Given the description of an element on the screen output the (x, y) to click on. 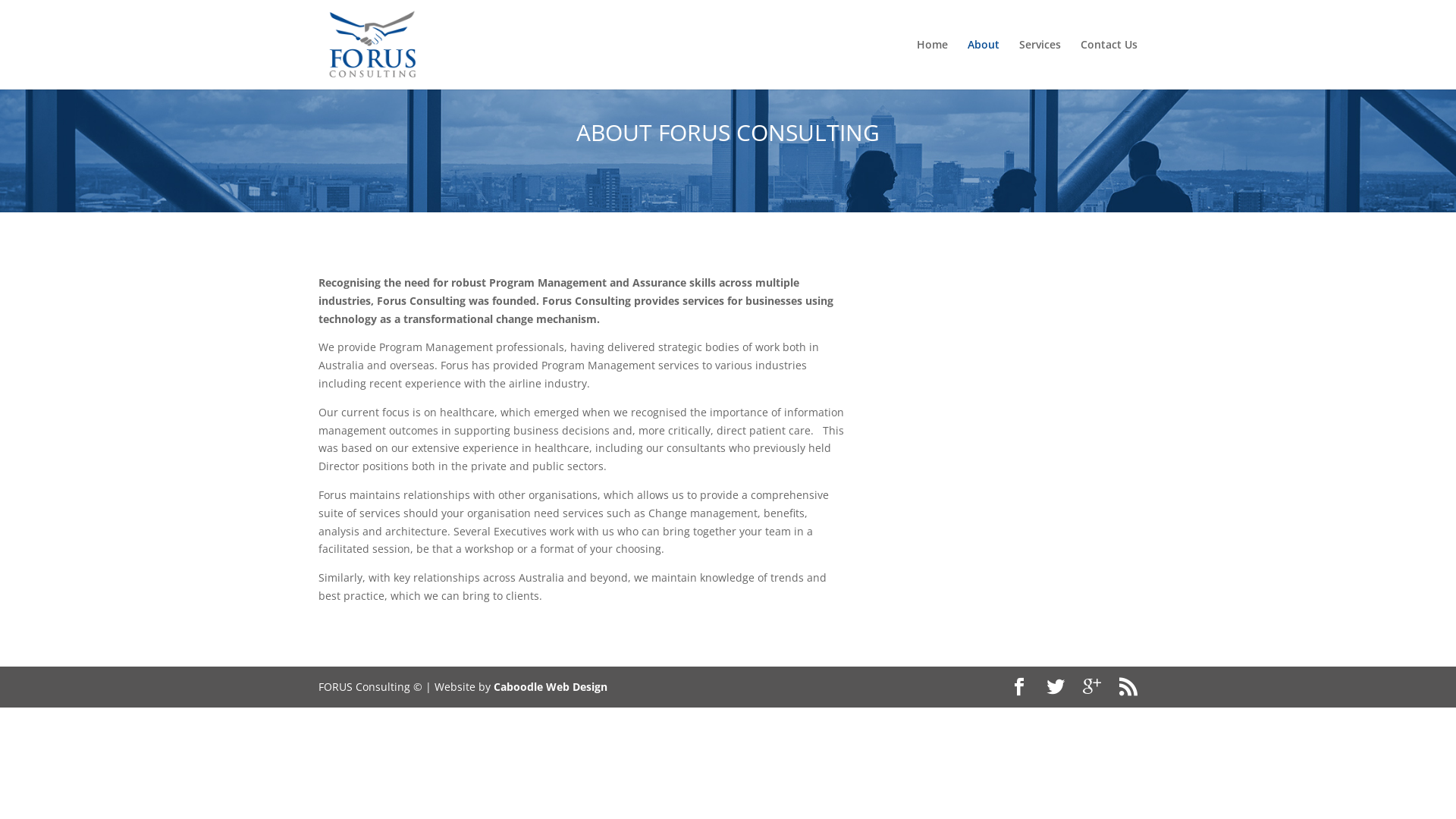
Home Element type: text (931, 64)
Caboodle Web Design Element type: text (550, 686)
Contact Us Element type: text (1108, 64)
Services Element type: text (1039, 64)
About Element type: text (983, 64)
